Given the description of an element on the screen output the (x, y) to click on. 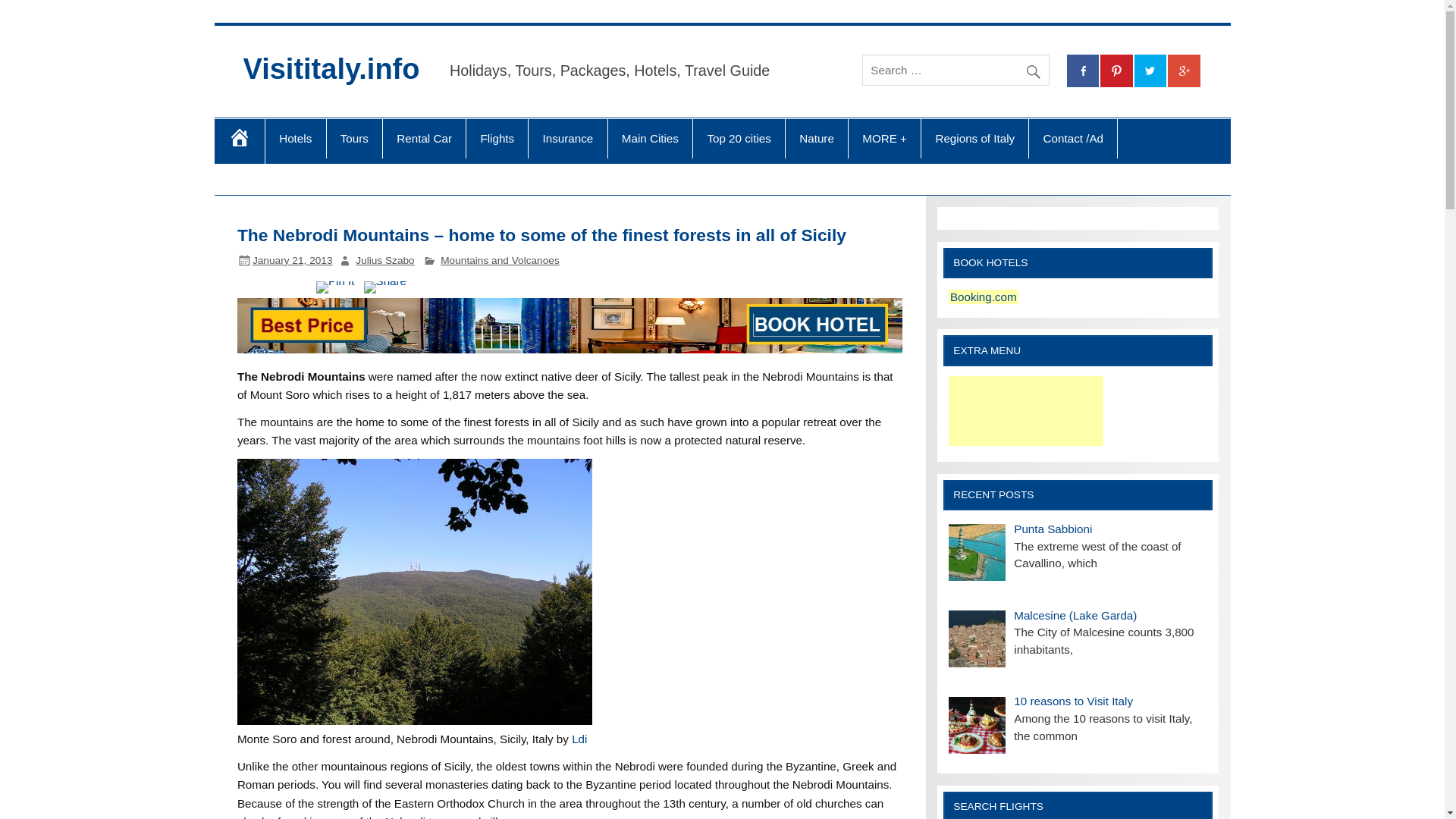
Pin It (335, 287)
Tours (353, 138)
Hotels (295, 138)
Home (238, 140)
3:45 pm (292, 260)
Nature (816, 138)
Main Cities (650, 138)
Rental Car (423, 138)
Top 20 cities (738, 138)
Home (238, 140)
